Given the description of an element on the screen output the (x, y) to click on. 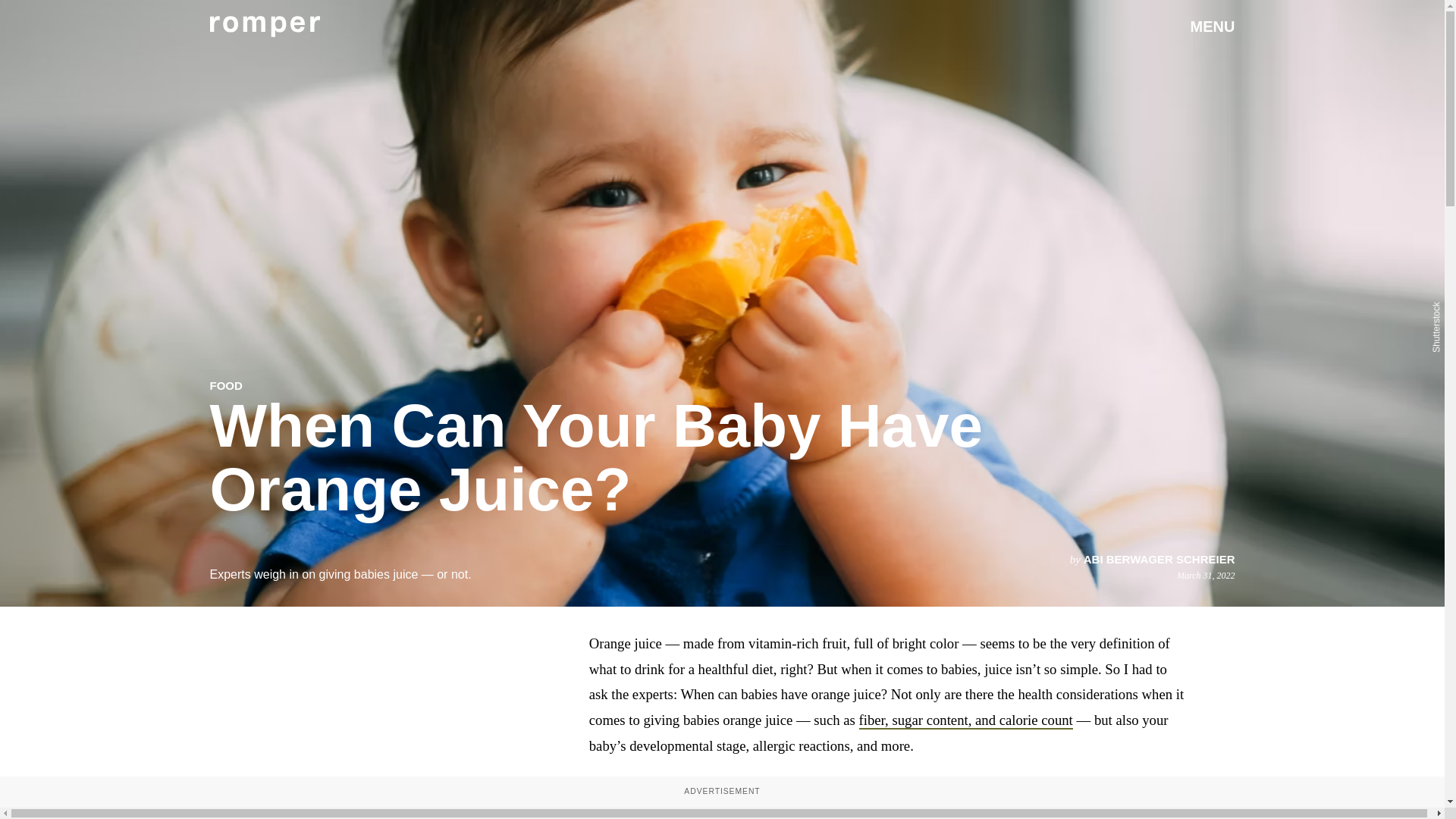
fiber, sugar content, and calorie count (966, 720)
Romper (263, 26)
ABI BERWAGER SCHREIER (1158, 558)
